Given the description of an element on the screen output the (x, y) to click on. 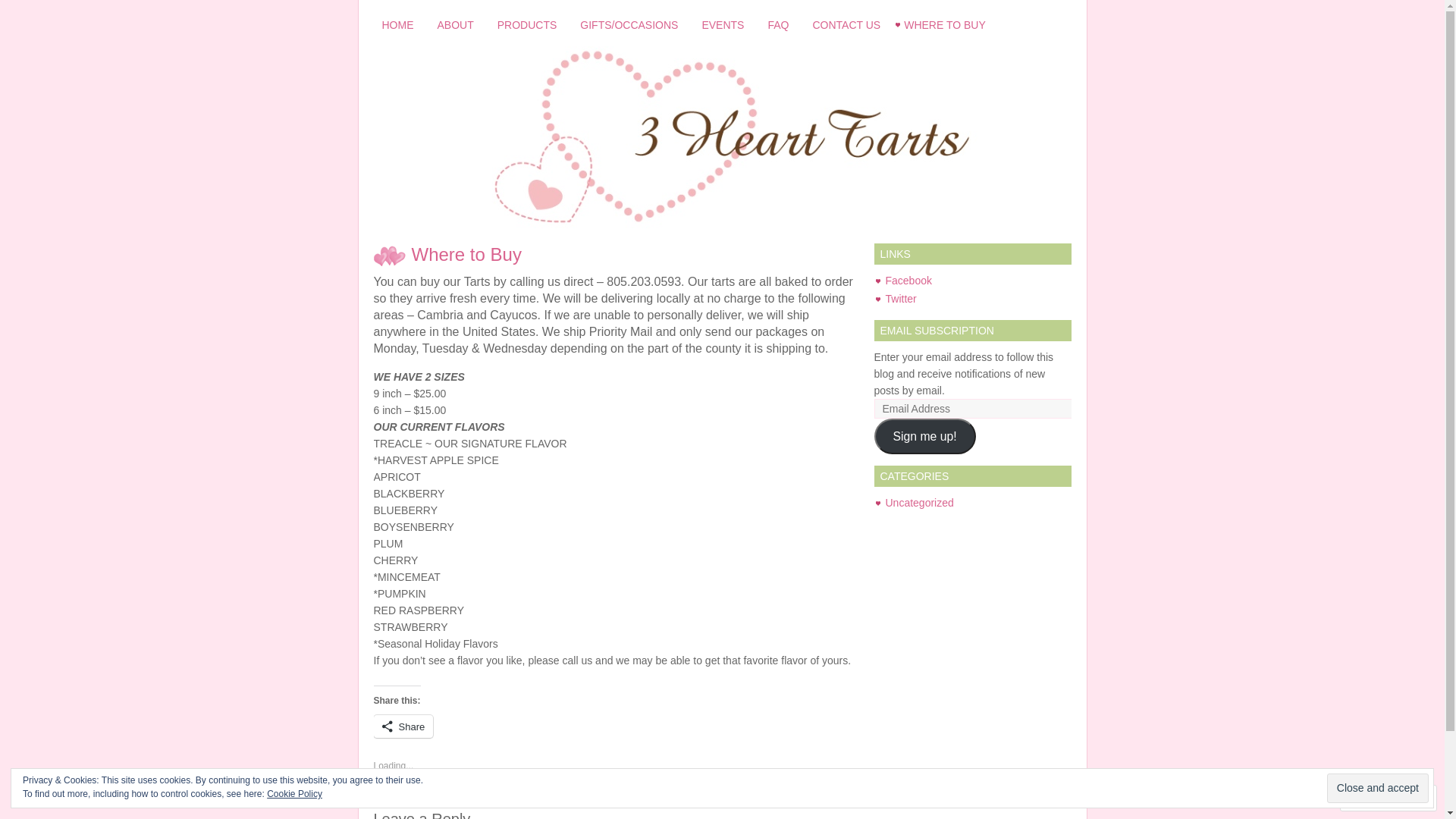
FAQ Element type: text (777, 24)
Share Element type: text (403, 726)
Close and accept Element type: text (1377, 788)
EVENTS Element type: text (722, 24)
ABOUT Element type: text (455, 24)
Sign me up! Element type: text (924, 436)
GIFTS/OCCASIONS Element type: text (628, 24)
HOME Element type: text (397, 24)
WHERE TO BUY Element type: text (944, 24)
CONTACT US Element type: text (846, 24)
Uncategorized Element type: text (919, 502)
Facebook Element type: text (908, 280)
Follow Element type: text (1374, 797)
Twitter Element type: text (900, 298)
3 Heart Tarts Element type: text (721, 137)
PRODUCTS Element type: text (527, 24)
Cookie Policy Element type: text (294, 793)
